Given the description of an element on the screen output the (x, y) to click on. 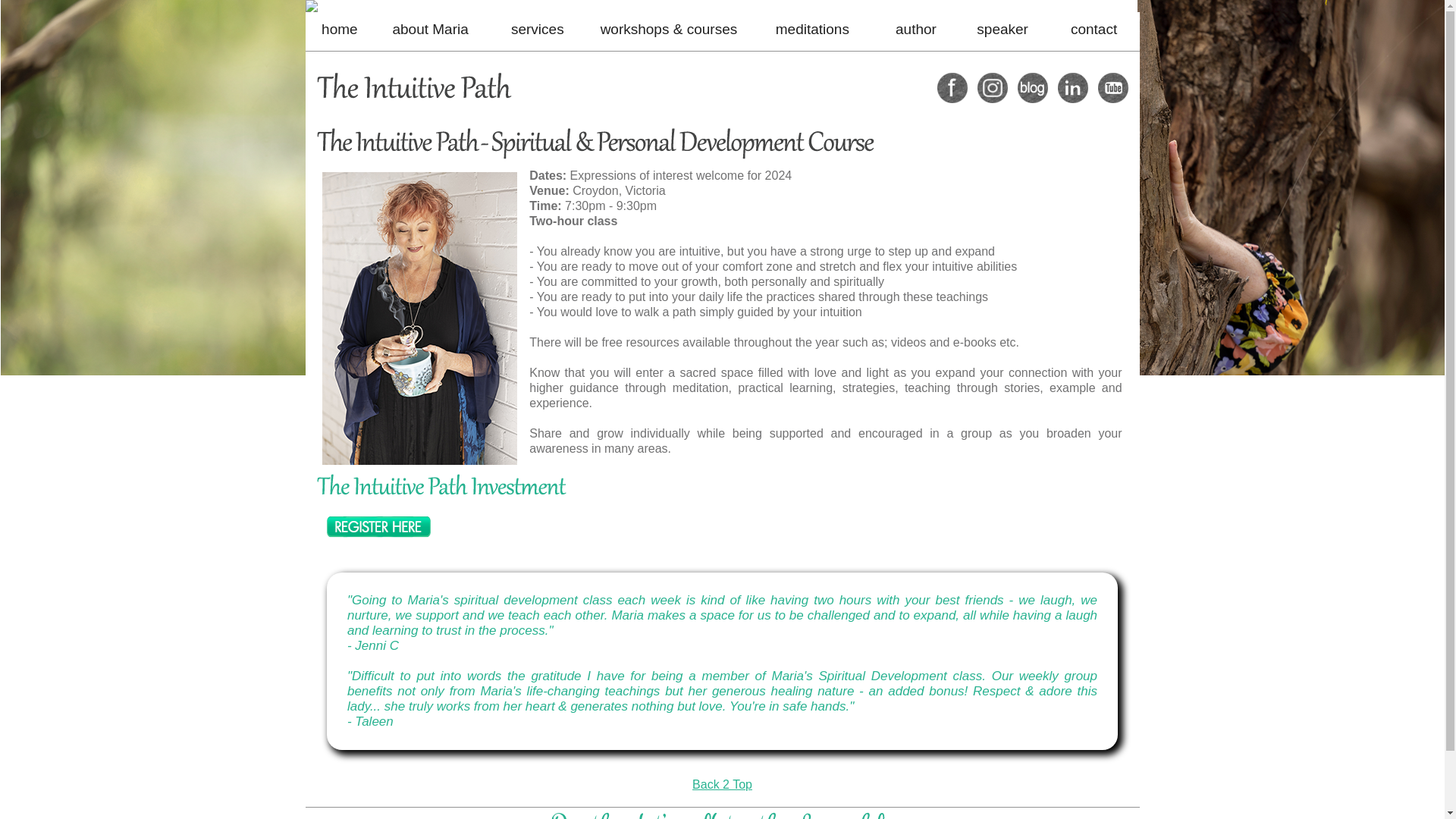
Back 2 Top Element type: text (722, 784)
home Element type: text (339, 29)
services Element type: text (537, 29)
meditations Element type: text (812, 29)
speaker Element type: text (1002, 29)
contact Element type: text (1093, 29)
about Maria Element type: text (429, 29)
workshops & courses Element type: text (668, 29)
author Element type: text (915, 29)
